Given the description of an element on the screen output the (x, y) to click on. 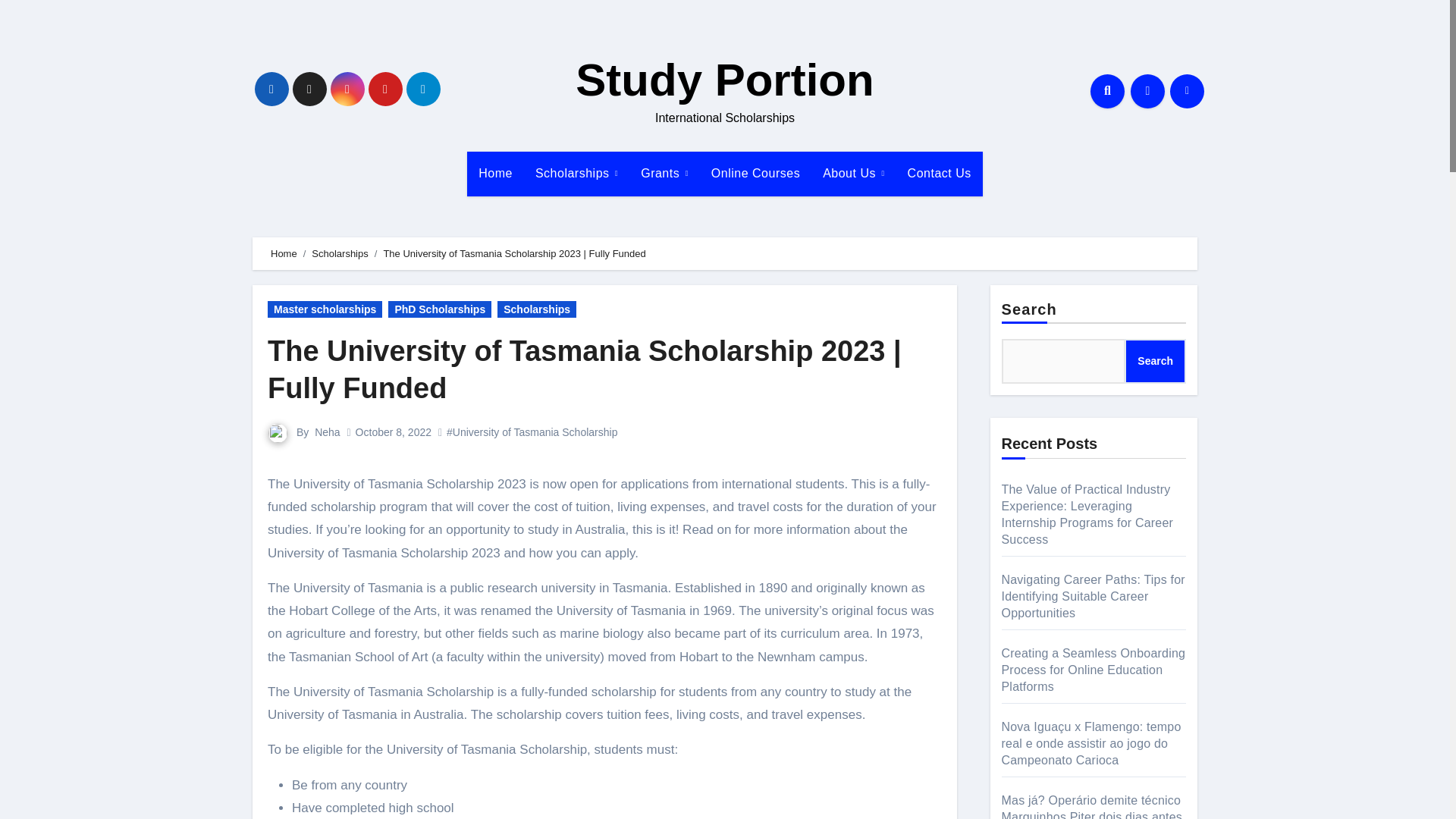
Contact Us (939, 173)
Neha (326, 431)
Grants (664, 173)
Grants (664, 173)
Scholarships (576, 173)
Home (495, 173)
Home (283, 253)
PhD Scholarships (440, 309)
Home (495, 173)
Contact Us (939, 173)
Scholarships (576, 173)
Online Courses (755, 173)
Master scholarships (324, 309)
October 8, 2022 (392, 431)
About Us (852, 173)
